Given the description of an element on the screen output the (x, y) to click on. 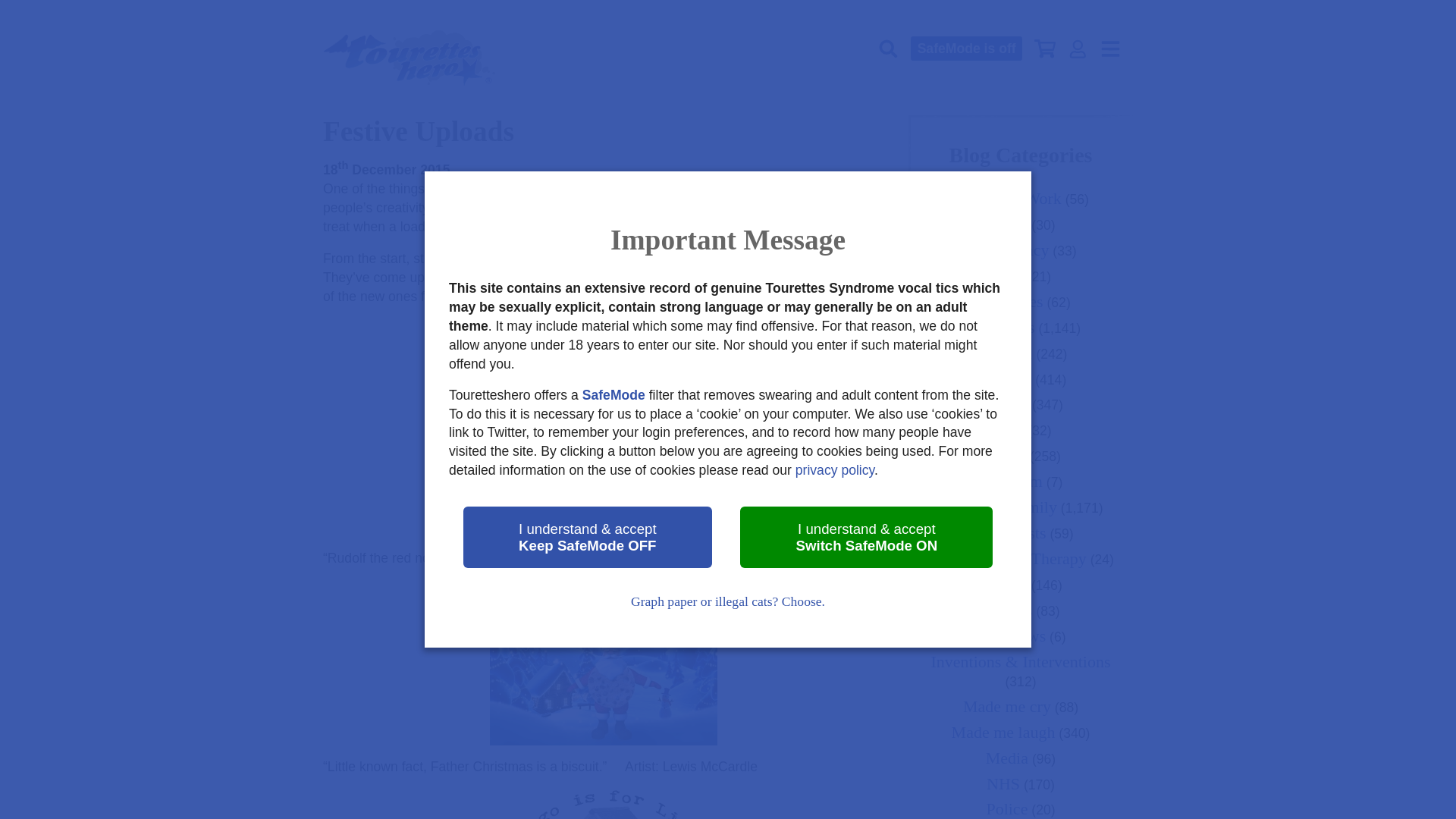
Touretteshero (409, 57)
gallery (618, 277)
videos (650, 207)
Limes College (579, 258)
images (710, 207)
Link to homepage (409, 57)
poems (561, 207)
music (606, 207)
